Given the description of an element on the screen output the (x, y) to click on. 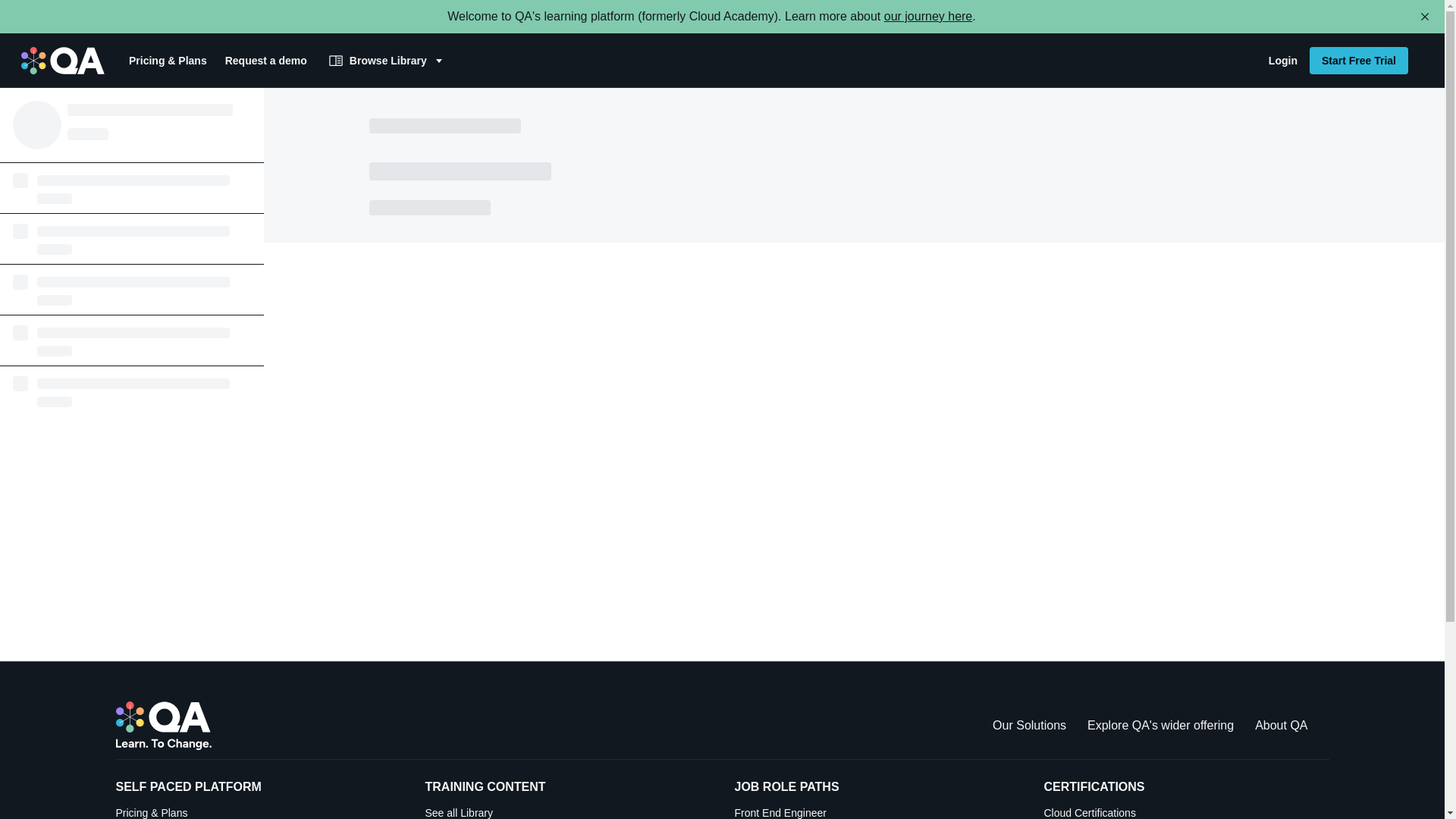
Login (1282, 60)
Browse Library (386, 60)
About QA (1281, 725)
See all Library (567, 812)
Front End Engineer (876, 812)
Explore QA's wider offering (1160, 725)
Request a demo (266, 60)
Our Solutions (1028, 725)
Start Free Trial (927, 15)
Cloud Certifications (1357, 60)
